Given the description of an element on the screen output the (x, y) to click on. 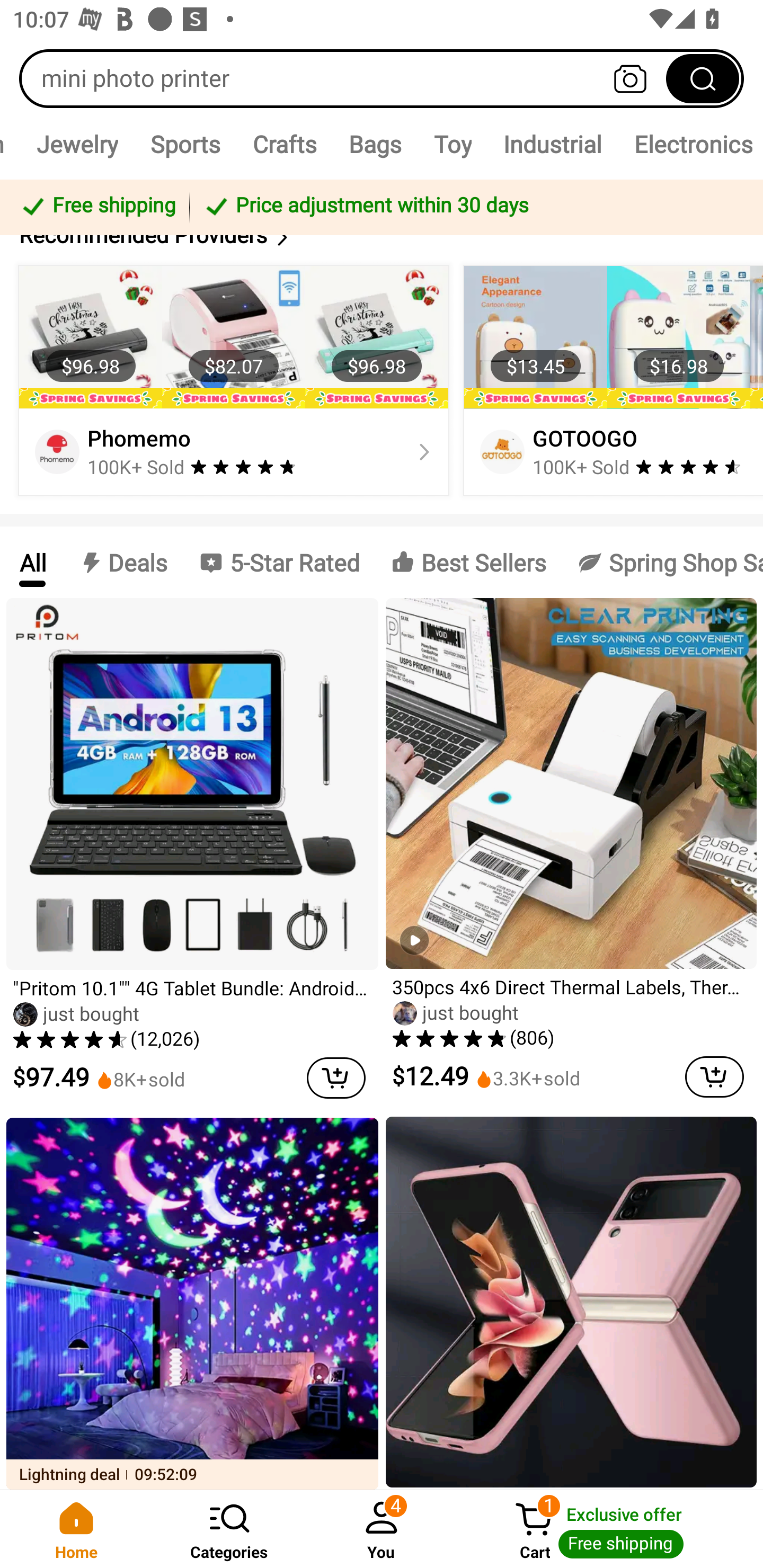
mini photo printer (381, 78)
Jewelry (76, 144)
Sports (185, 144)
Crafts (284, 144)
Bags (374, 144)
Toy (452, 144)
Industrial (552, 144)
Electronics (690, 144)
Free shipping (97, 206)
Price adjustment within 30 days (472, 206)
$96.98 $82.07 $96.98 Phomemo 100K+ Sold (233, 380)
$13.45 $16.98 GOTOOGO 100K+ Sold (610, 380)
All (32, 561)
Deals Deals Deals (122, 561)
5-Star Rated 5-Star Rated 5-Star Rated (279, 561)
Best Sellers Best Sellers Best Sellers (468, 561)
Spring Shop Save Spring Shop Save Spring Shop Save (662, 561)
cart delete (714, 1076)
cart delete (335, 1077)
Home (76, 1528)
Categories (228, 1528)
You 4 You (381, 1528)
Cart 1 Cart Exclusive offer (610, 1528)
